Given the description of an element on the screen output the (x, y) to click on. 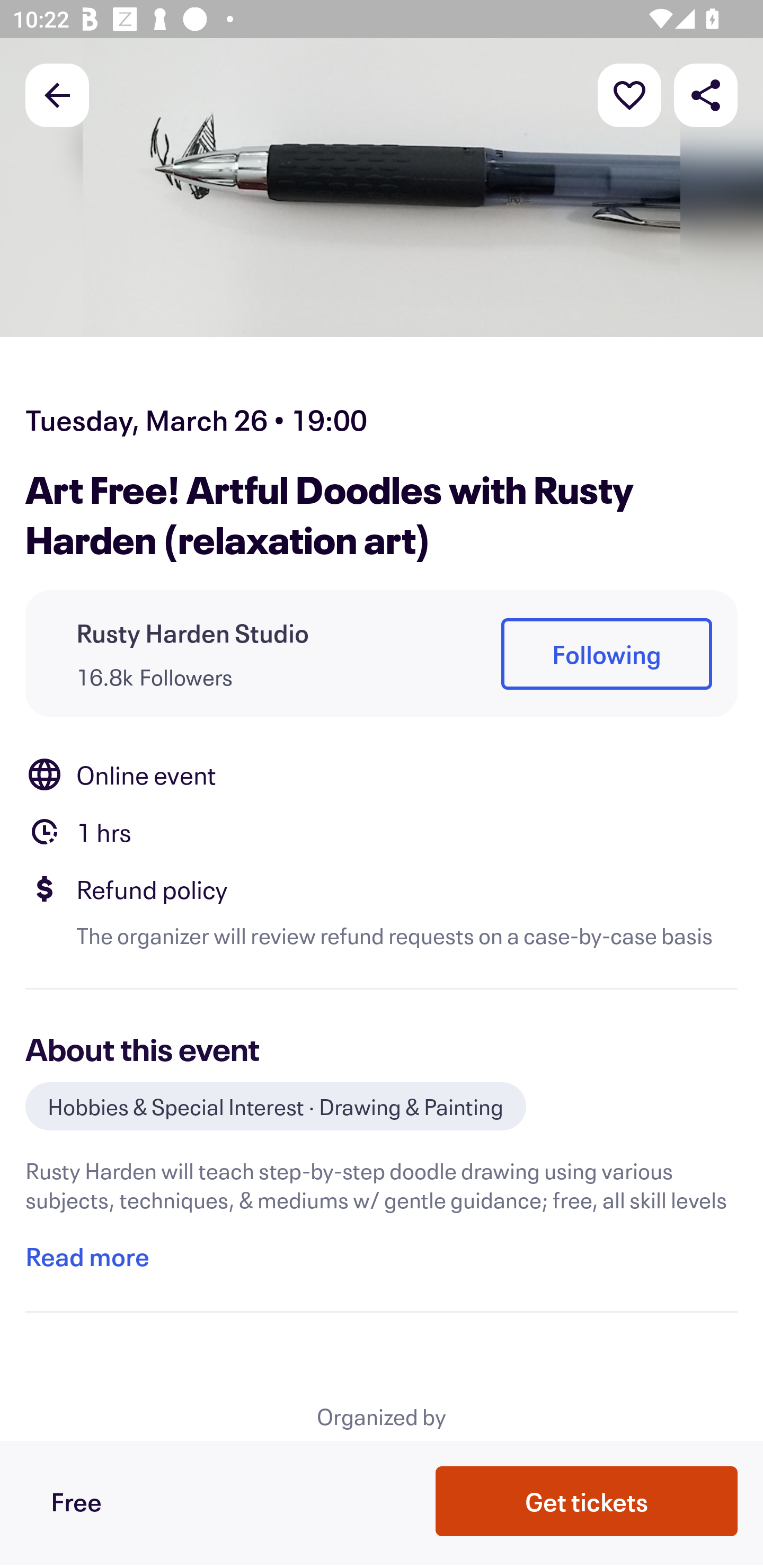
Back (57, 94)
More (629, 94)
Share (705, 94)
Rusty Harden Studio (192, 632)
Following (606, 654)
Location Online event (381, 774)
Read more (87, 1256)
Get tickets (586, 1500)
